Given the description of an element on the screen output the (x, y) to click on. 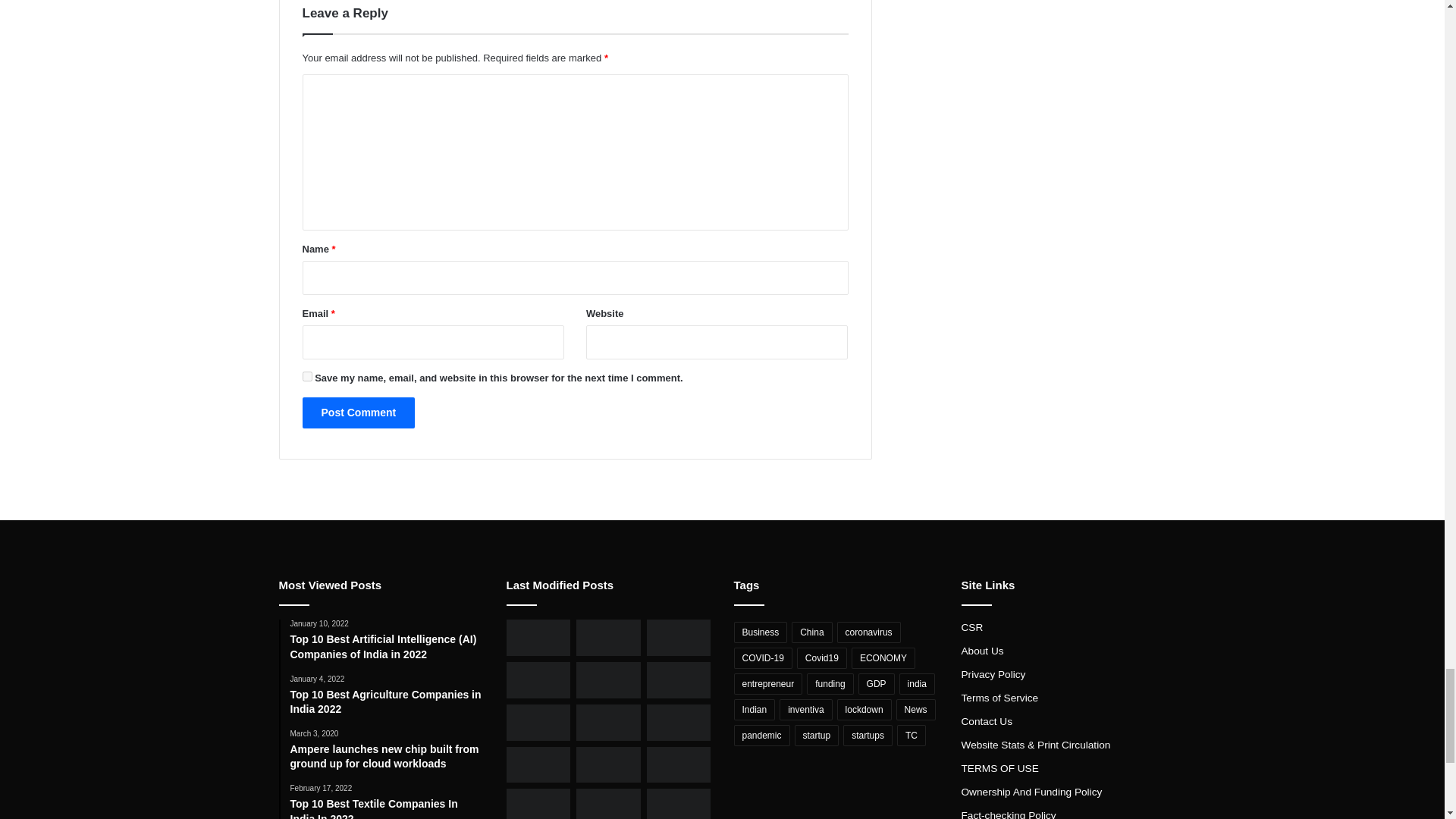
yes (306, 376)
Post Comment (357, 412)
